Given the description of an element on the screen output the (x, y) to click on. 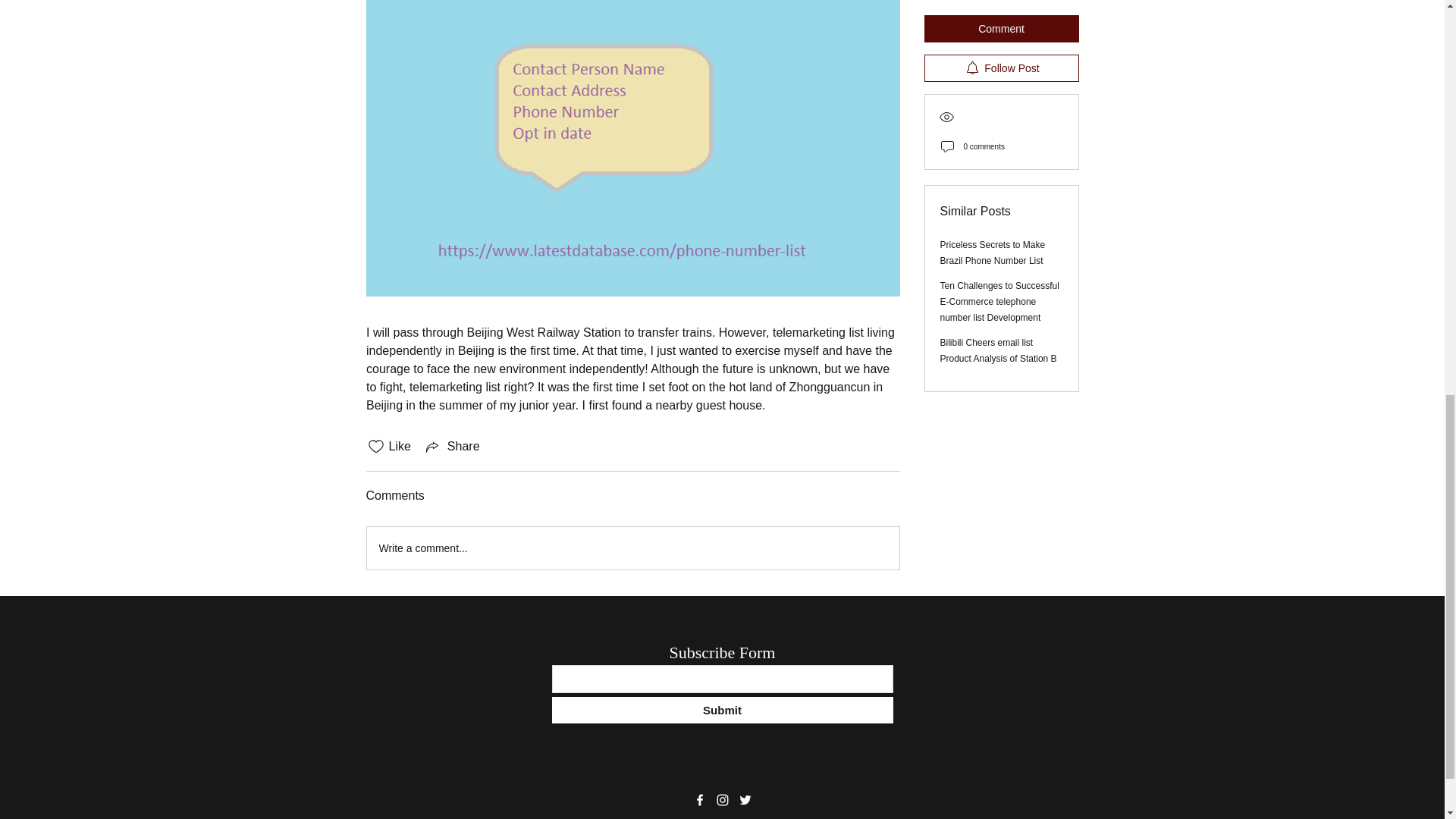
Submit (722, 709)
Share (451, 446)
Write a comment... (632, 548)
